Given the description of an element on the screen output the (x, y) to click on. 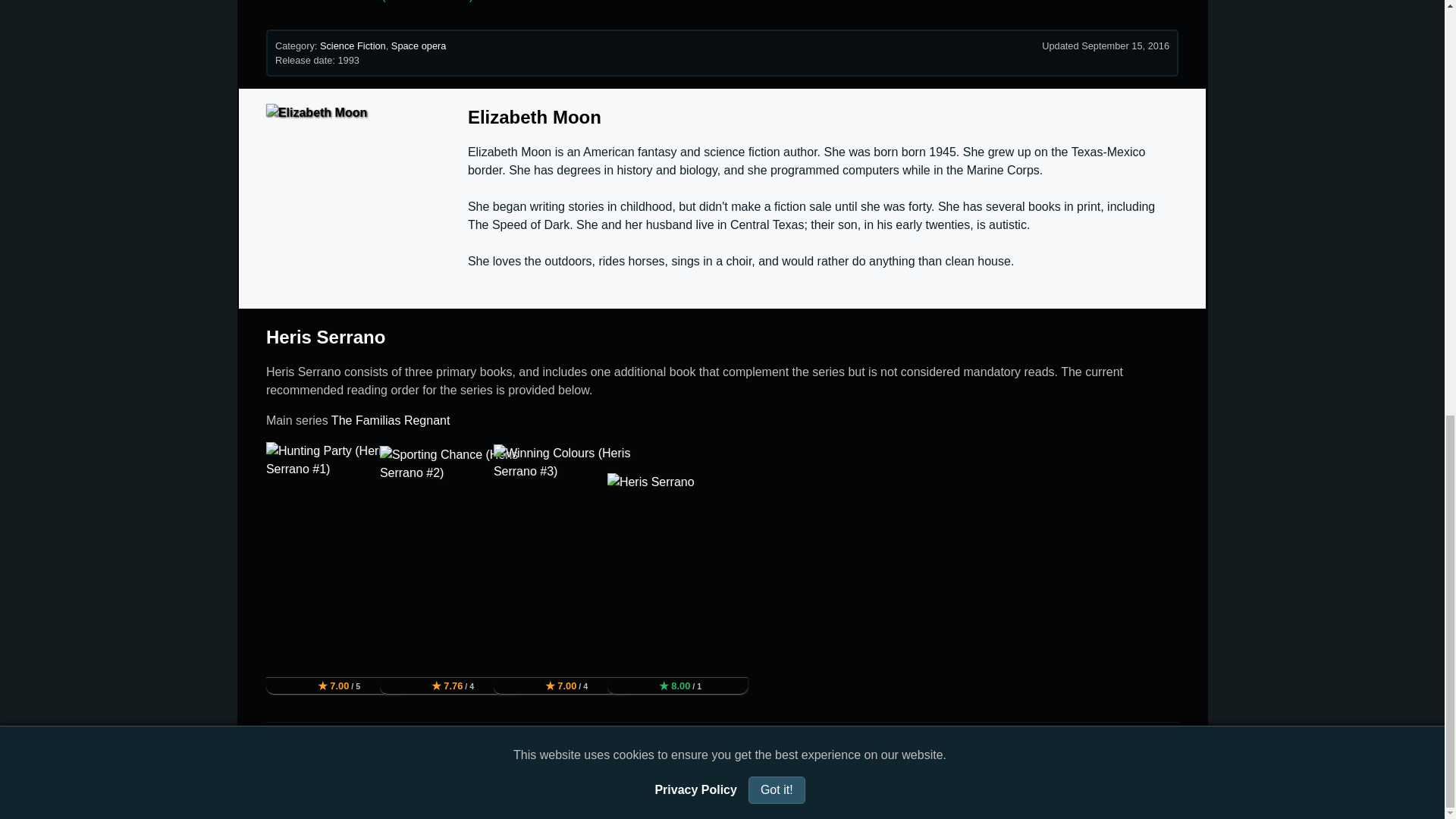
The Familias Regnant (390, 420)
Science Fiction (352, 45)
Space opera (418, 45)
Elizabeth Moon (534, 117)
Heris Serrano (325, 336)
